Given the description of an element on the screen output the (x, y) to click on. 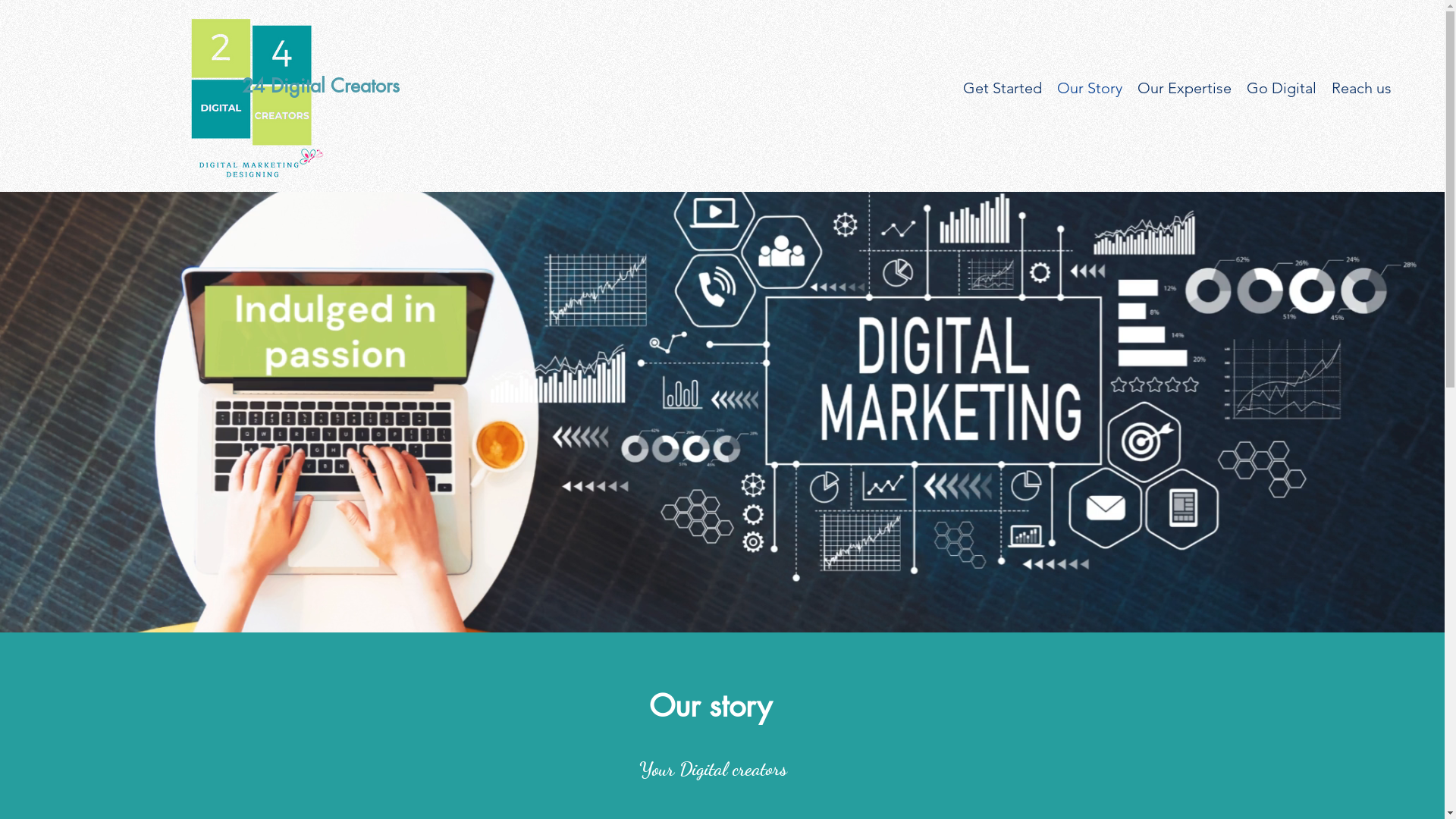
Our Expertise Element type: text (1184, 87)
Our Story Element type: text (1089, 87)
Reach us Element type: text (1361, 87)
Get Started Element type: text (1002, 87)
Go Digital Element type: text (1281, 87)
